Given the description of an element on the screen output the (x, y) to click on. 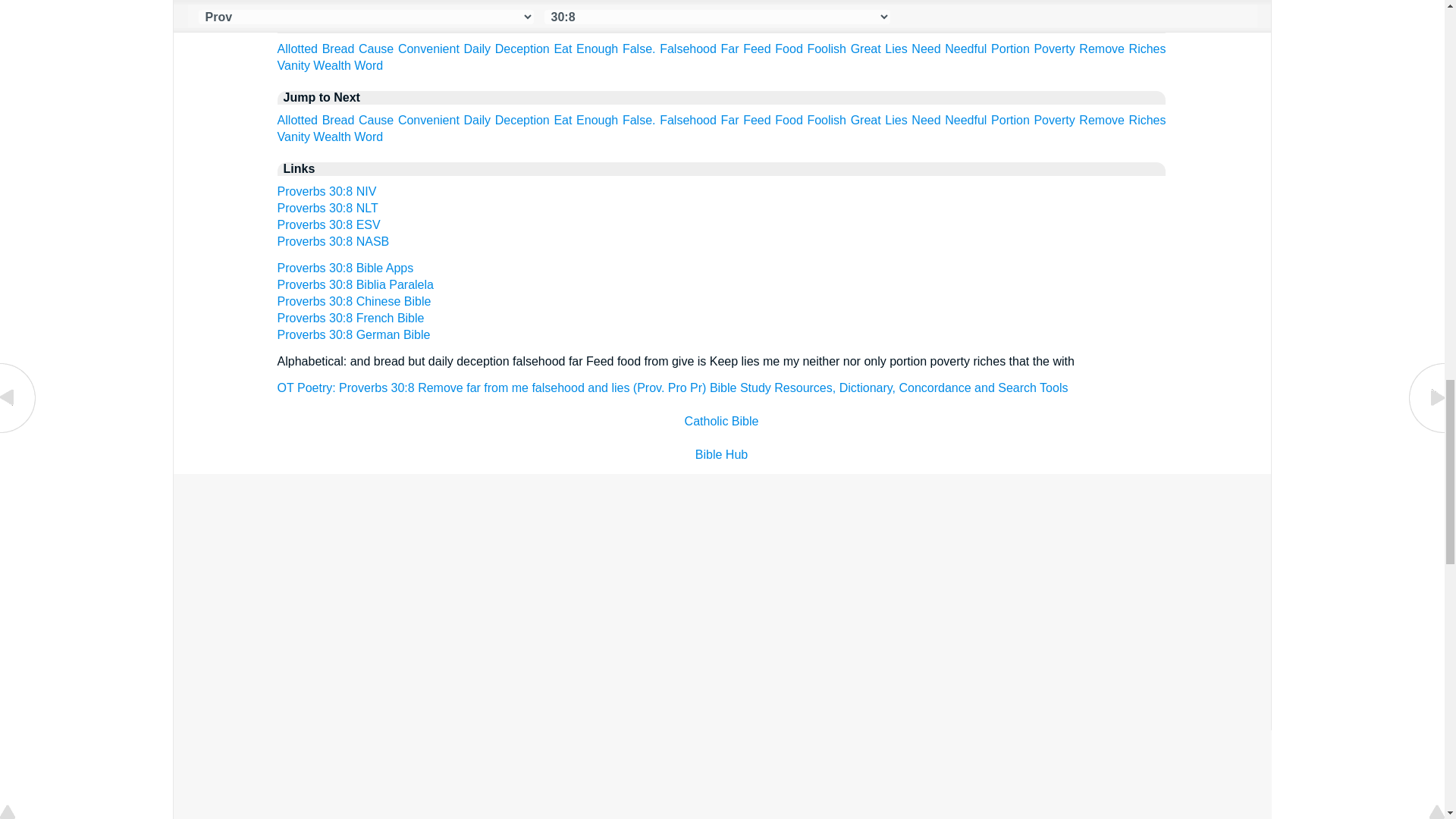
Bread (338, 48)
Convenient (428, 48)
Advertisement (721, 584)
Cause (375, 48)
Allotted (297, 48)
Daily (478, 48)
